Given the description of an element on the screen output the (x, y) to click on. 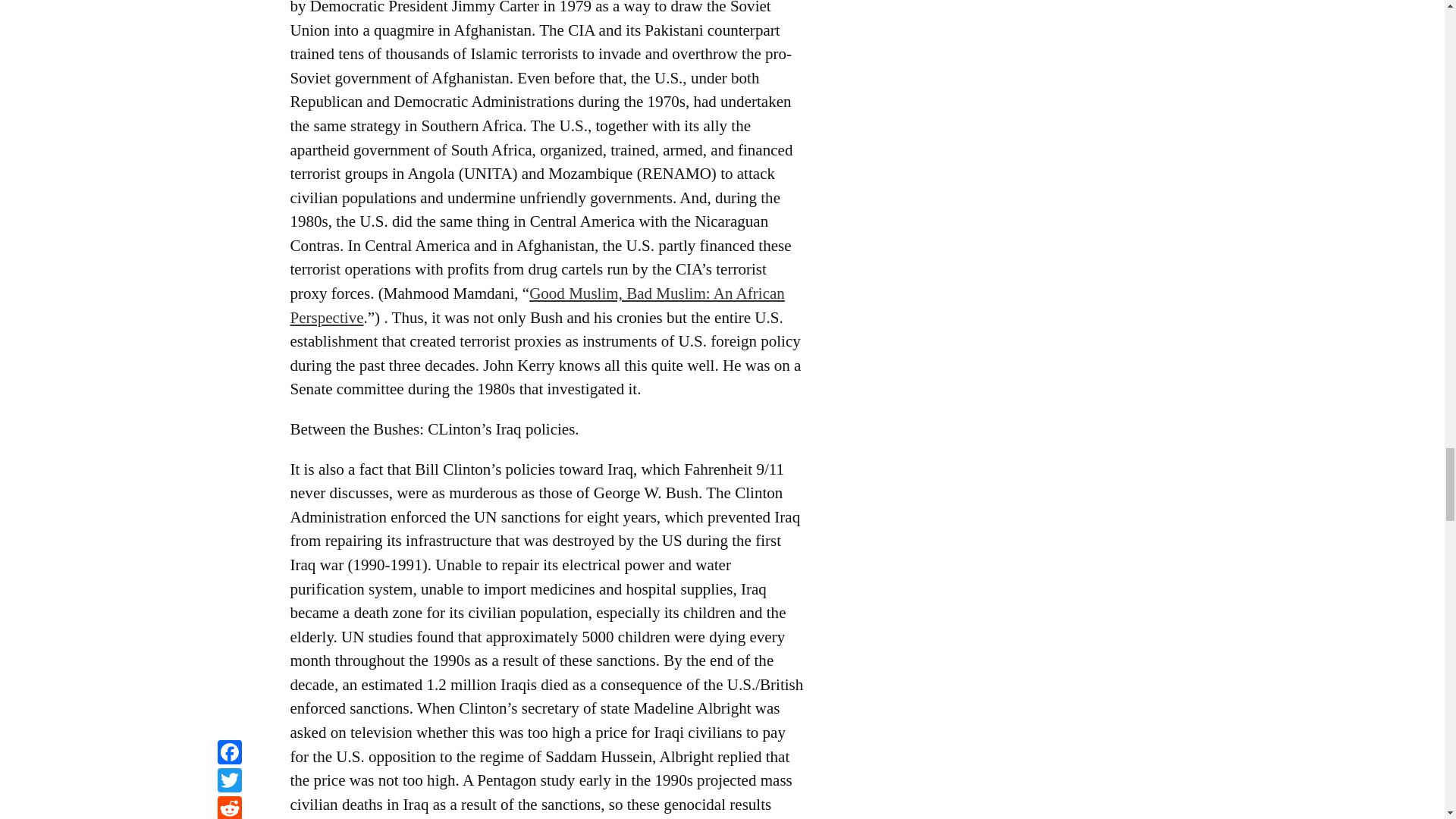
Good Muslim, Bad Muslim: An African Perspective (536, 305)
